Given the description of an element on the screen output the (x, y) to click on. 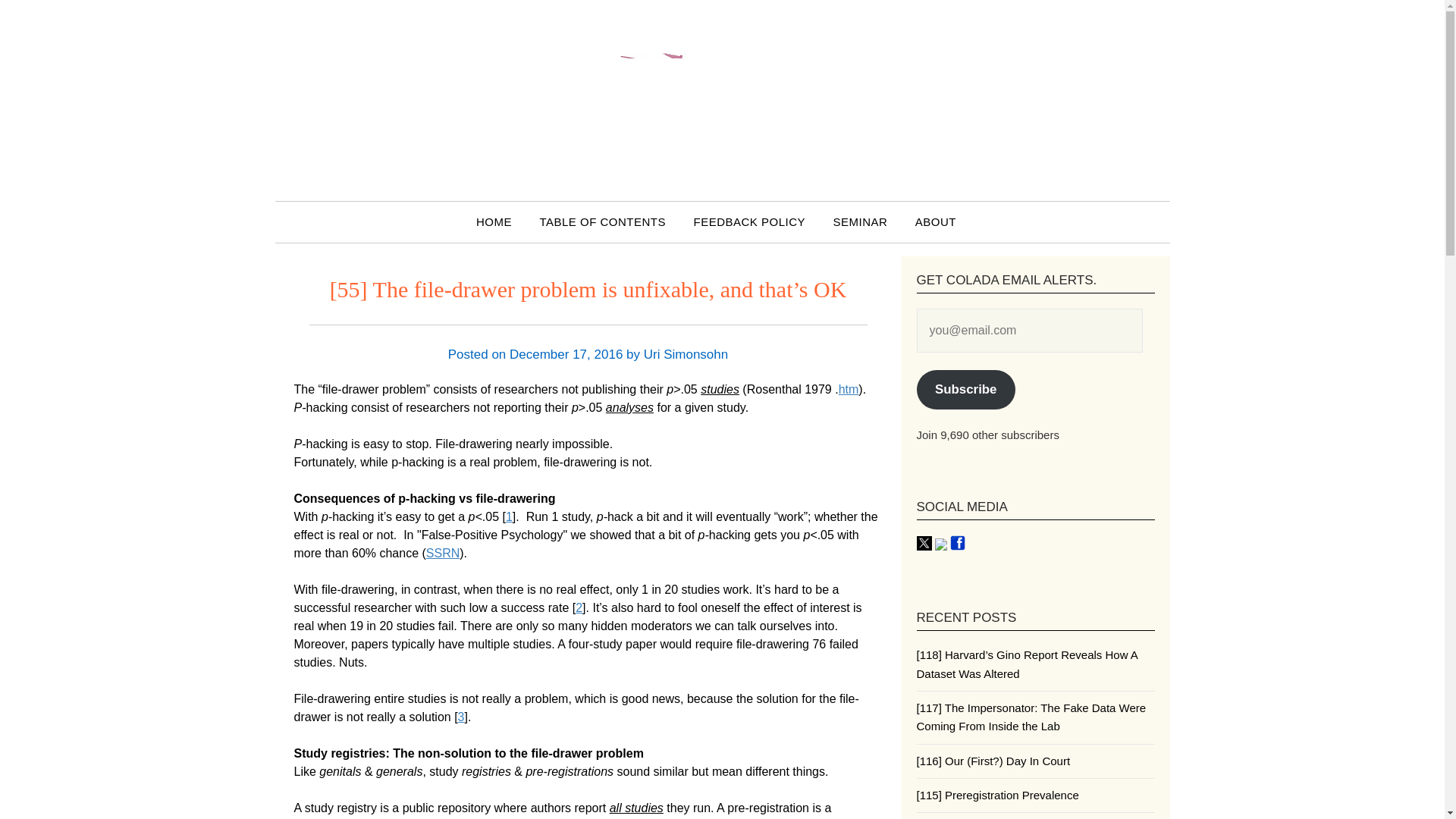
Uri Simonsohn (686, 354)
3 (461, 716)
SEMINAR (860, 221)
ABOUT (935, 221)
December 17, 2016 (566, 354)
FEEDBACK POLICY (748, 221)
2 (578, 607)
htm (848, 389)
TABLE OF CONTENTS (602, 221)
Subscribe (964, 389)
HOME (500, 221)
SSRN (443, 553)
1 (508, 516)
